Given the description of an element on the screen output the (x, y) to click on. 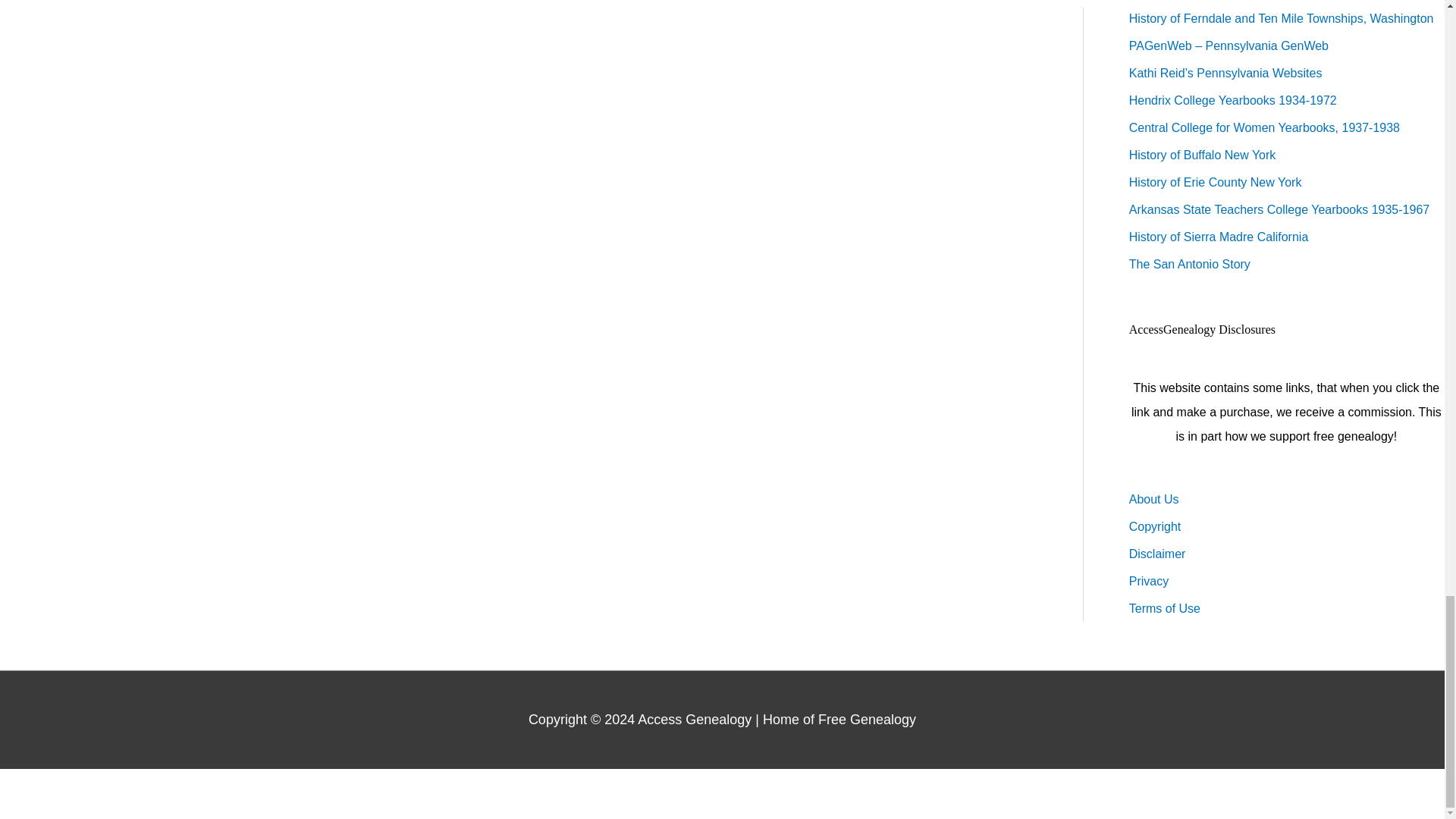
Learn how your comment data is processed (458, 2)
